Given the description of an element on the screen output the (x, y) to click on. 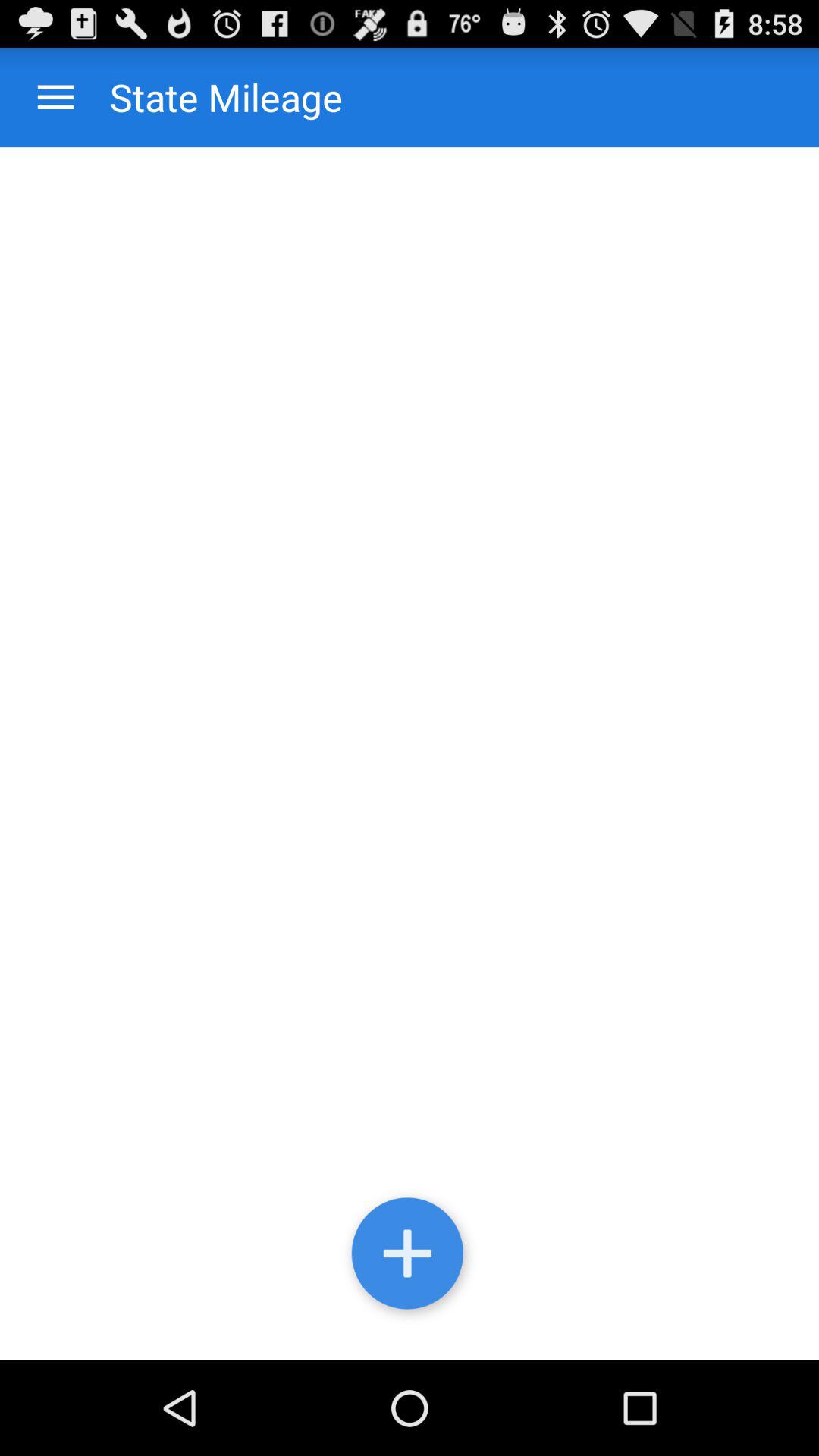
go to hide (409, 1256)
